Given the description of an element on the screen output the (x, y) to click on. 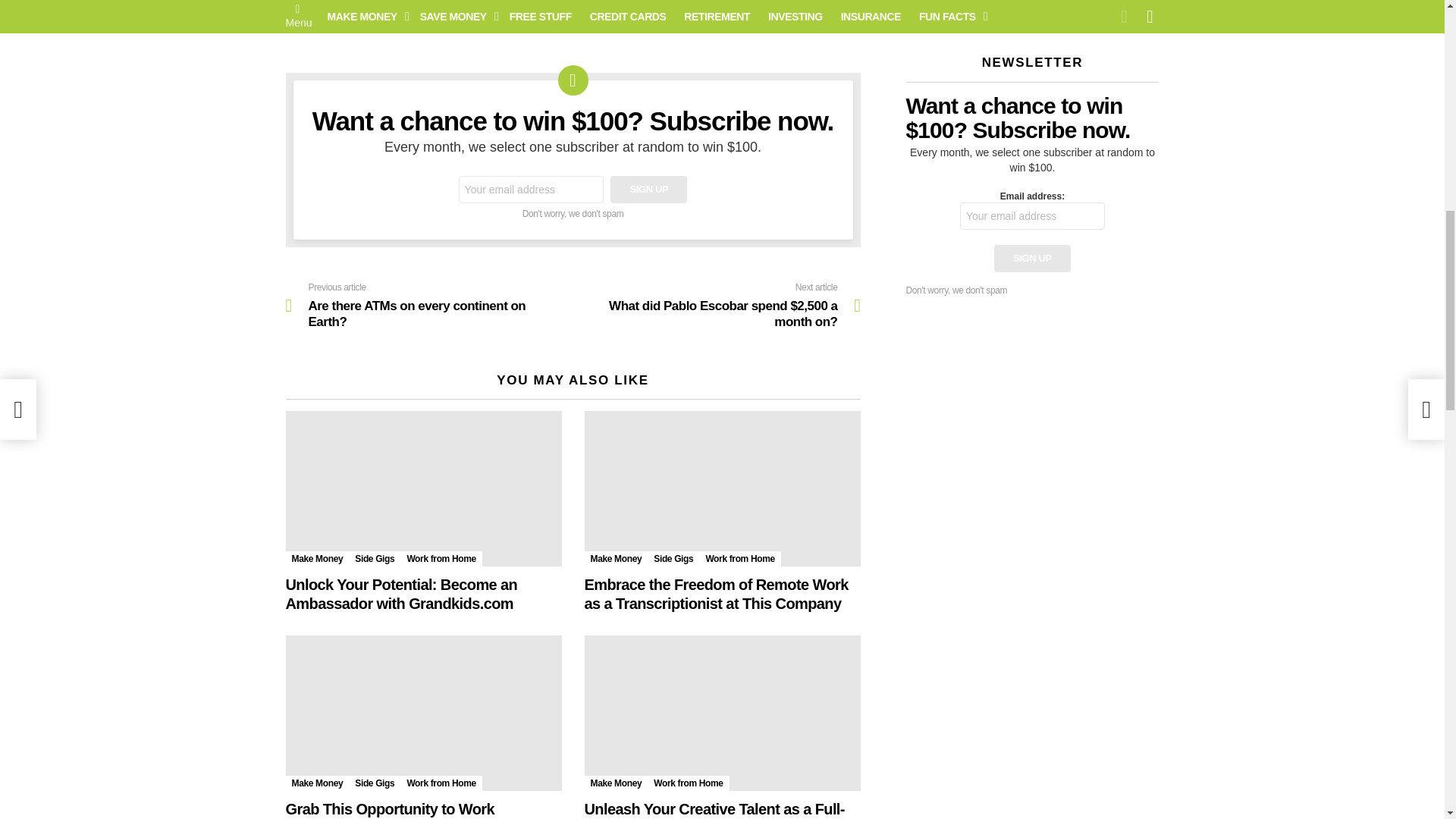
Sign up (1032, 257)
Grab This Opportunity to Work Remotely as an Editor (422, 713)
Sign up (648, 189)
